Given the description of an element on the screen output the (x, y) to click on. 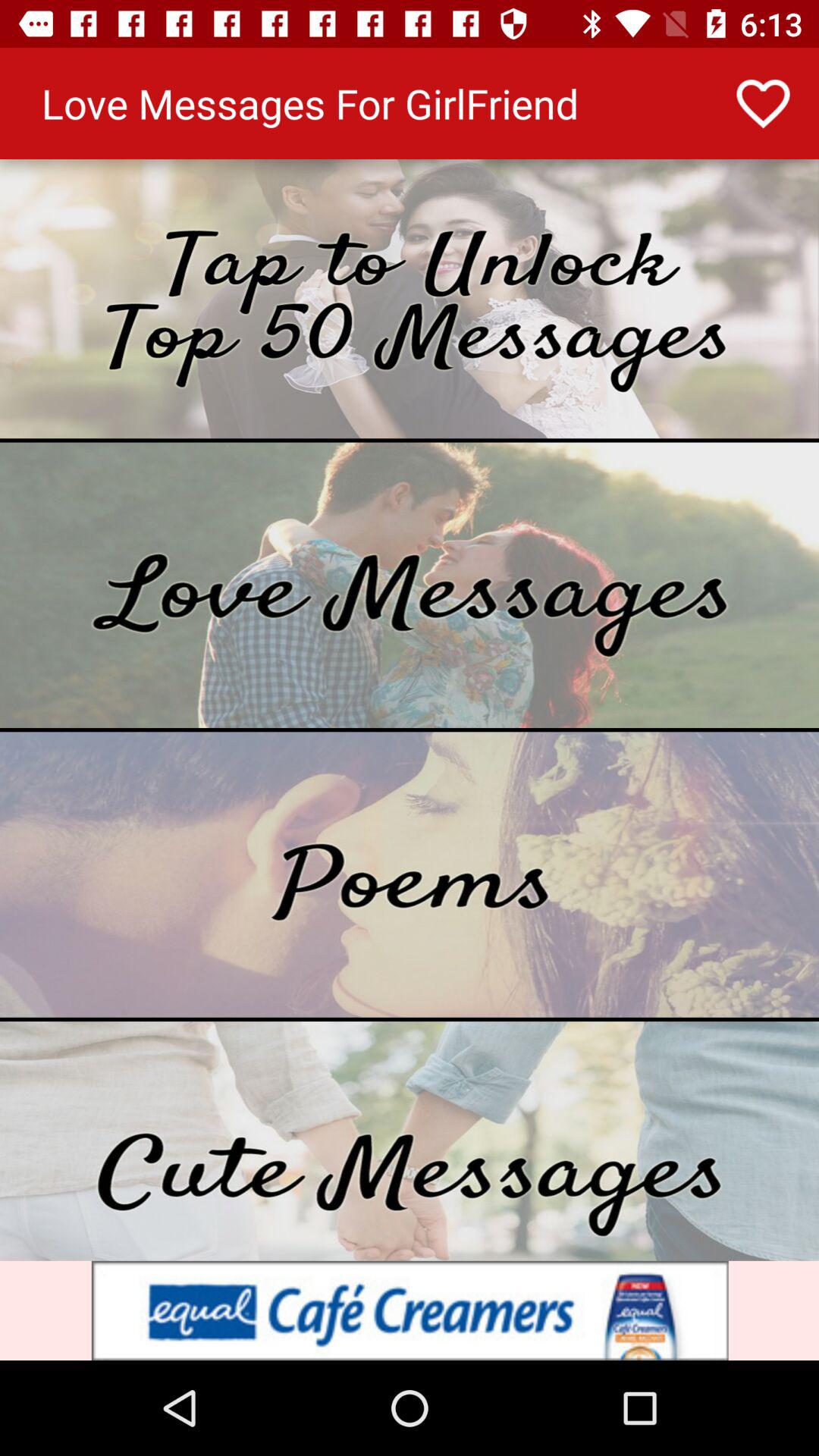
select cute messages (409, 1140)
